Given the description of an element on the screen output the (x, y) to click on. 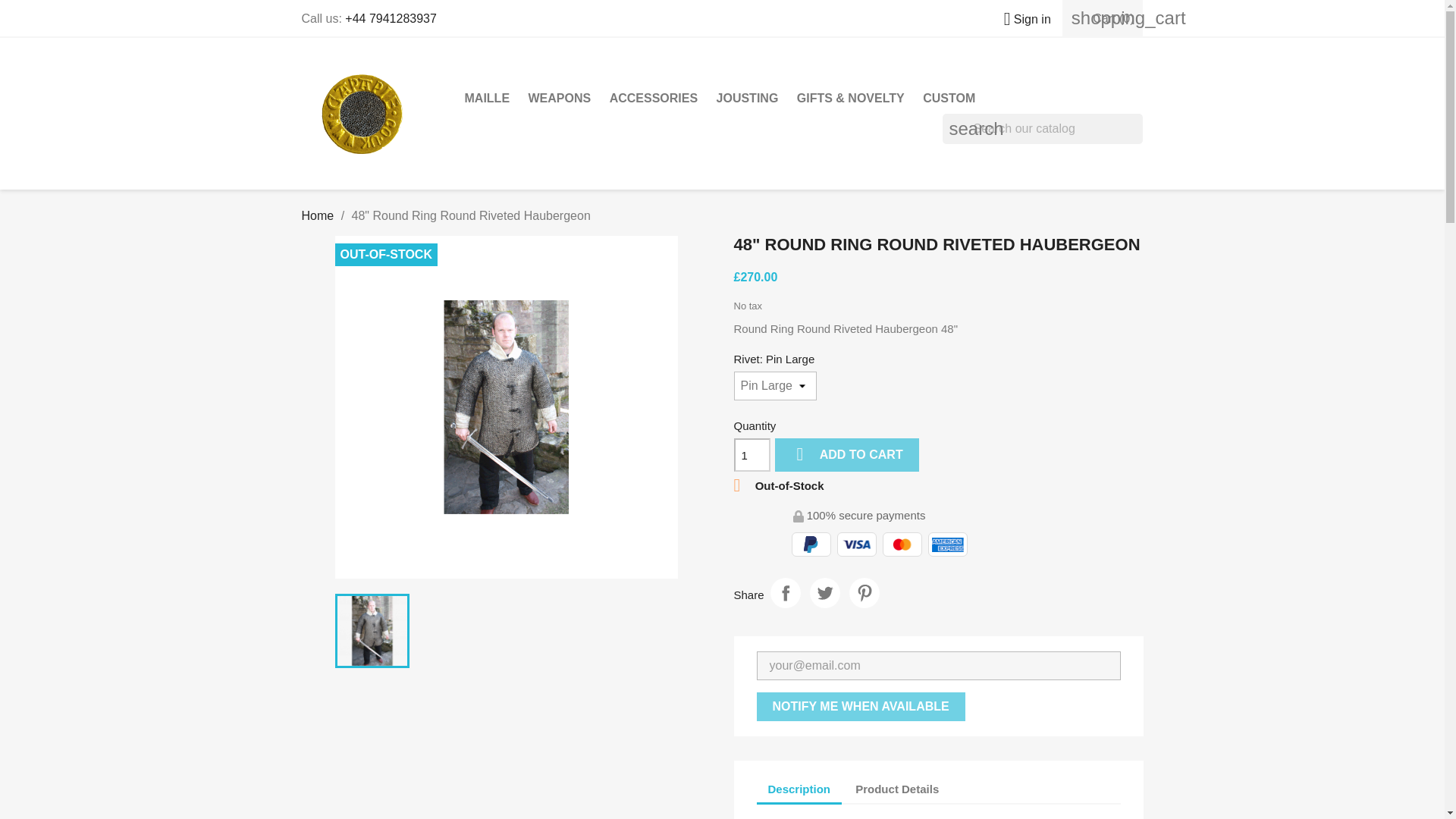
Pinterest (863, 593)
JOUSTING (747, 98)
ACCESSORIES (653, 98)
Home (317, 215)
WEAPONS (558, 98)
1 (751, 454)
Log in to your customer account (1020, 19)
MAILLE (486, 98)
Share (785, 593)
Tweet (824, 593)
CUSTOM (948, 98)
